Given the description of an element on the screen output the (x, y) to click on. 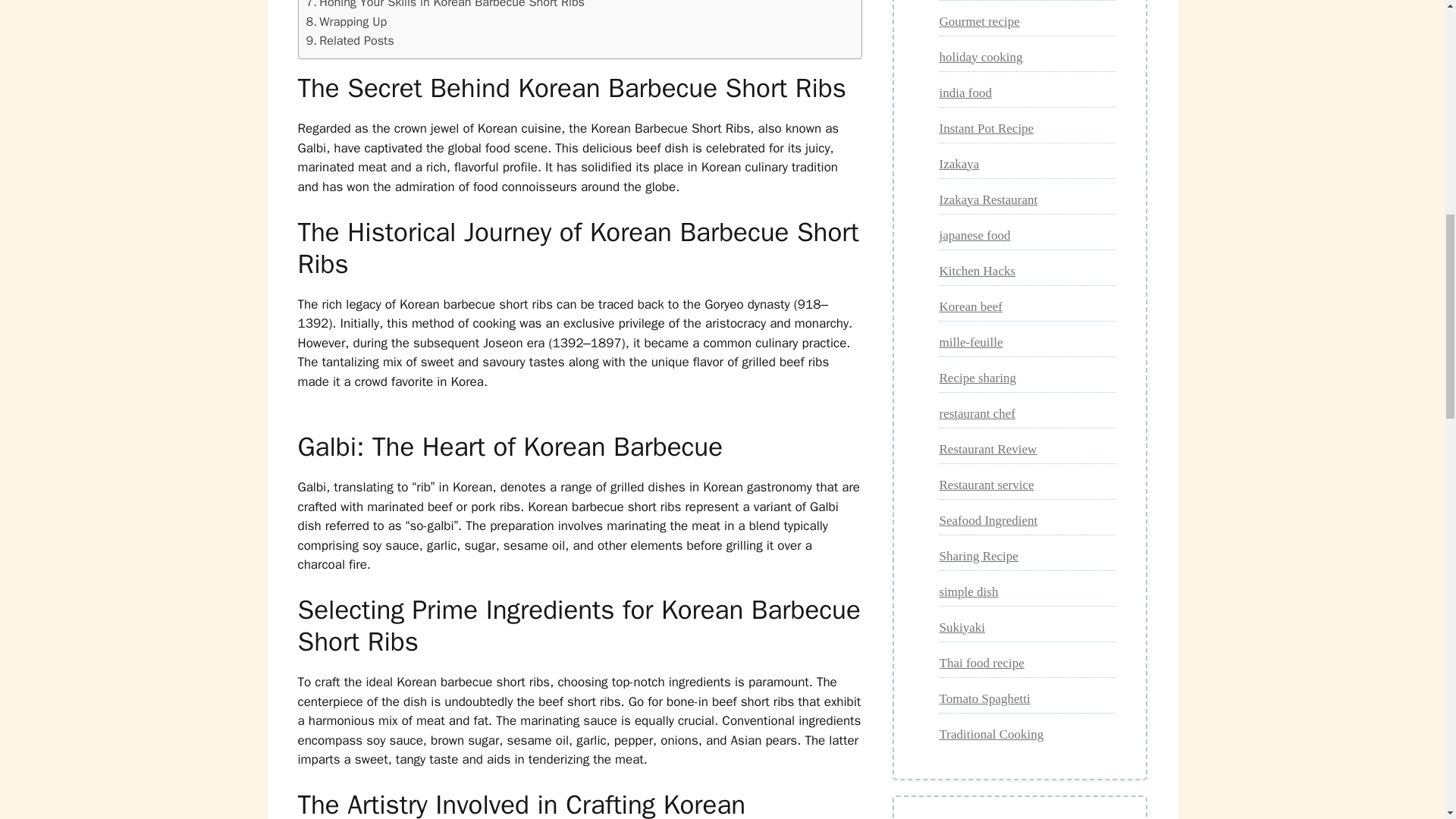
Honing Your Skills in Korean Barbecue Short Ribs (445, 6)
Wrapping Up (346, 21)
Wrapping Up (346, 21)
Related Posts (349, 40)
Related Posts (349, 40)
Honing Your Skills in Korean Barbecue Short Ribs (445, 6)
